Given the description of an element on the screen output the (x, y) to click on. 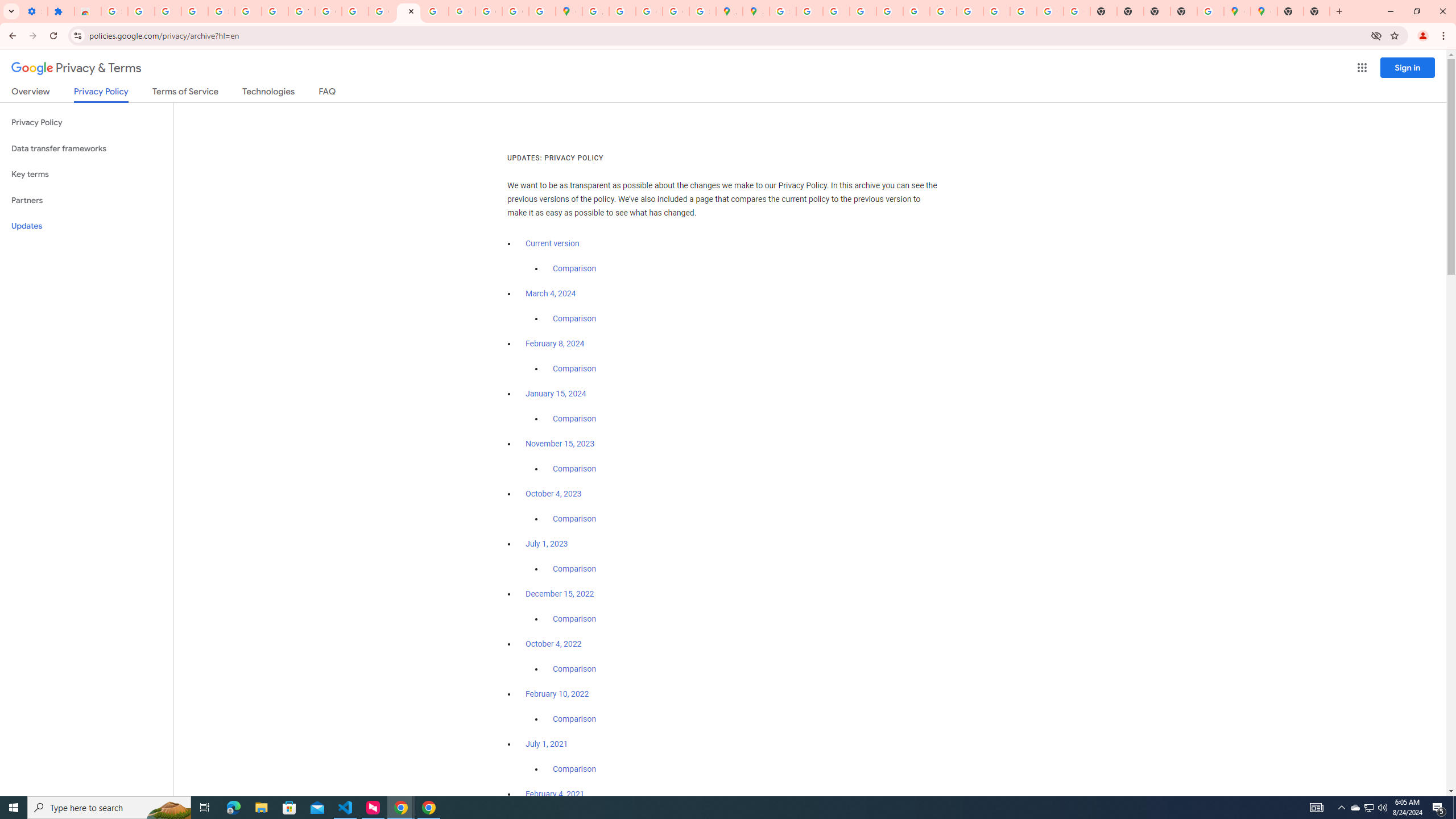
July 1, 2023 (546, 543)
YouTube (301, 11)
Delete photos & videos - Computer - Google Photos Help (141, 11)
October 4, 2023 (553, 493)
